Given the description of an element on the screen output the (x, y) to click on. 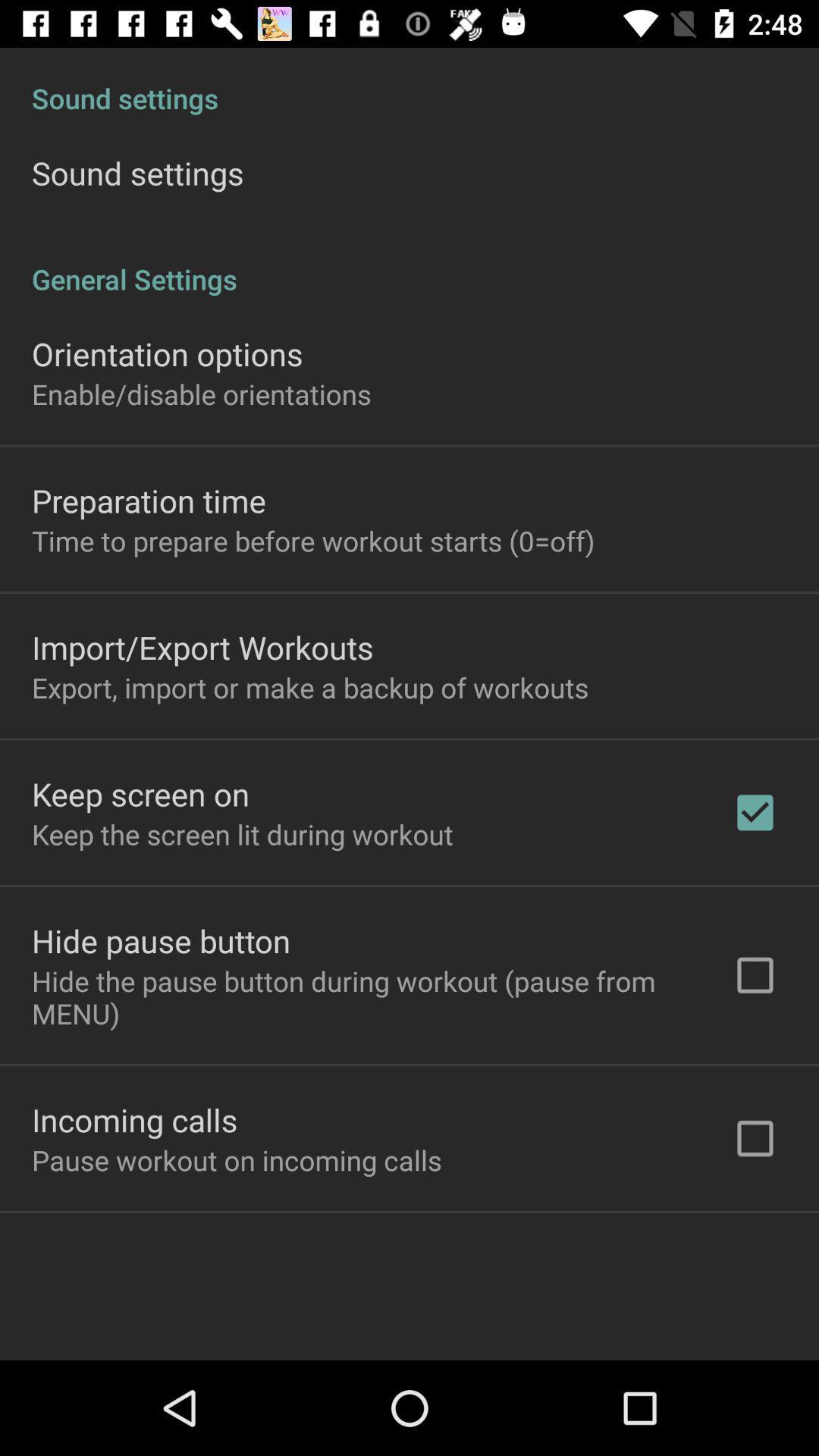
launch the app above the enable/disable orientations app (167, 353)
